Given the description of an element on the screen output the (x, y) to click on. 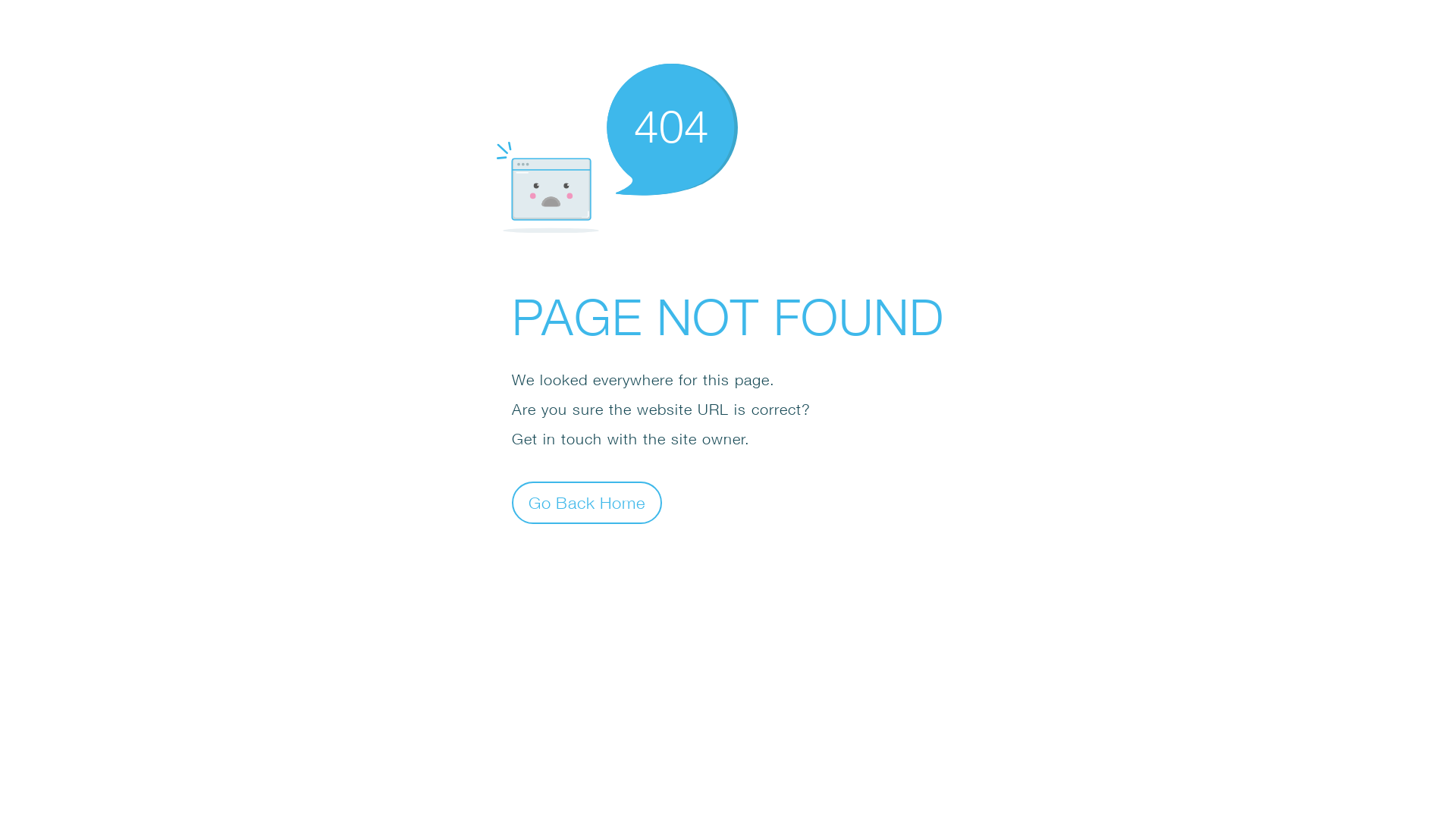
Go Back Home Element type: text (586, 502)
